Given the description of an element on the screen output the (x, y) to click on. 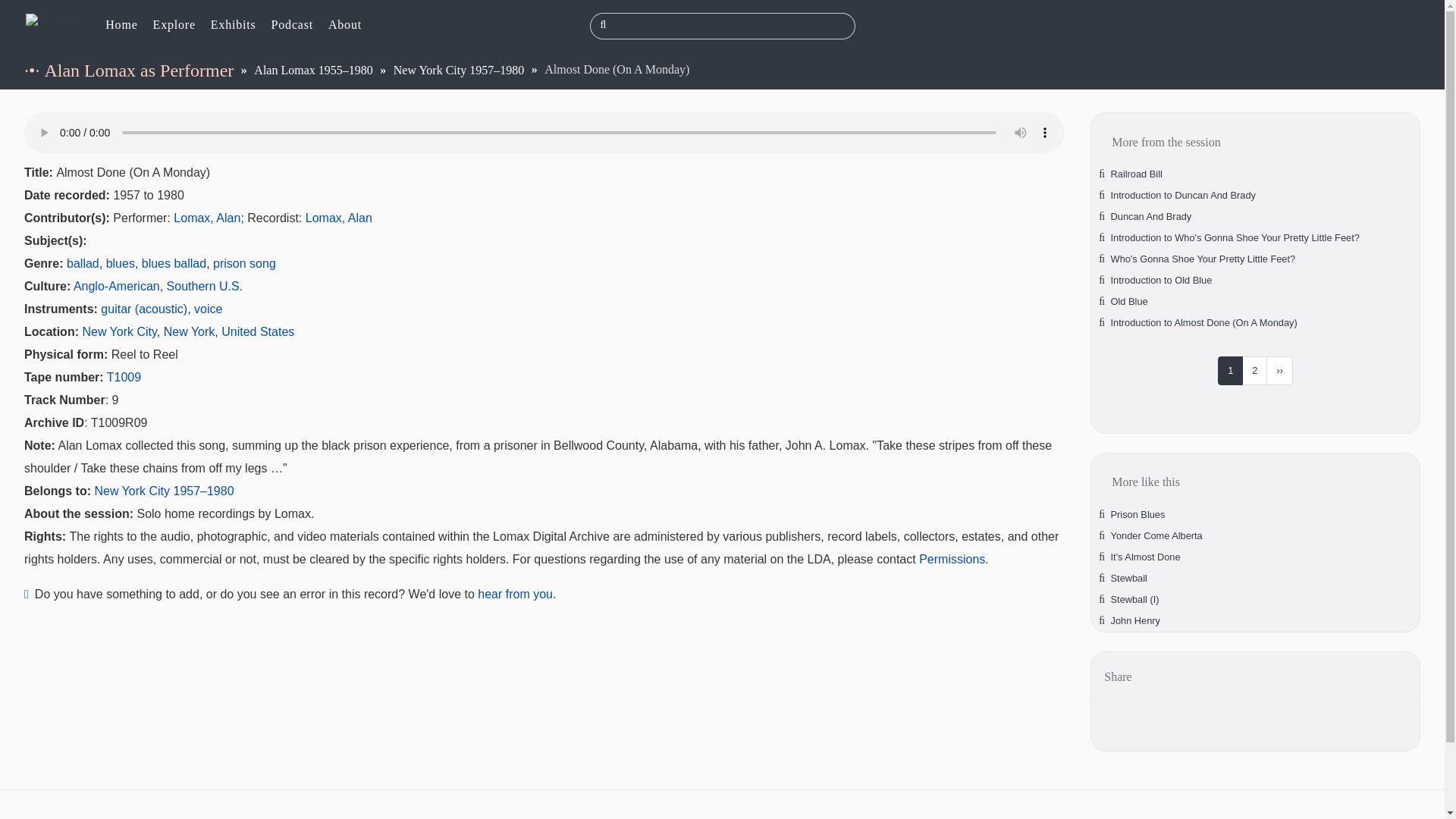
Permissions (951, 558)
New York (189, 331)
Home (55, 24)
Lomax, Alan (206, 217)
Podcast (292, 25)
Introduction to Duncan And Brady (1182, 194)
prison song (244, 263)
Railroad Bill (1135, 173)
Search (603, 24)
Explore (174, 25)
Southern U.S. (205, 286)
Lomax, Alan (338, 217)
Alan Lomax as Performer (137, 70)
Go to the site's front page. (121, 25)
About (344, 25)
